Given the description of an element on the screen output the (x, y) to click on. 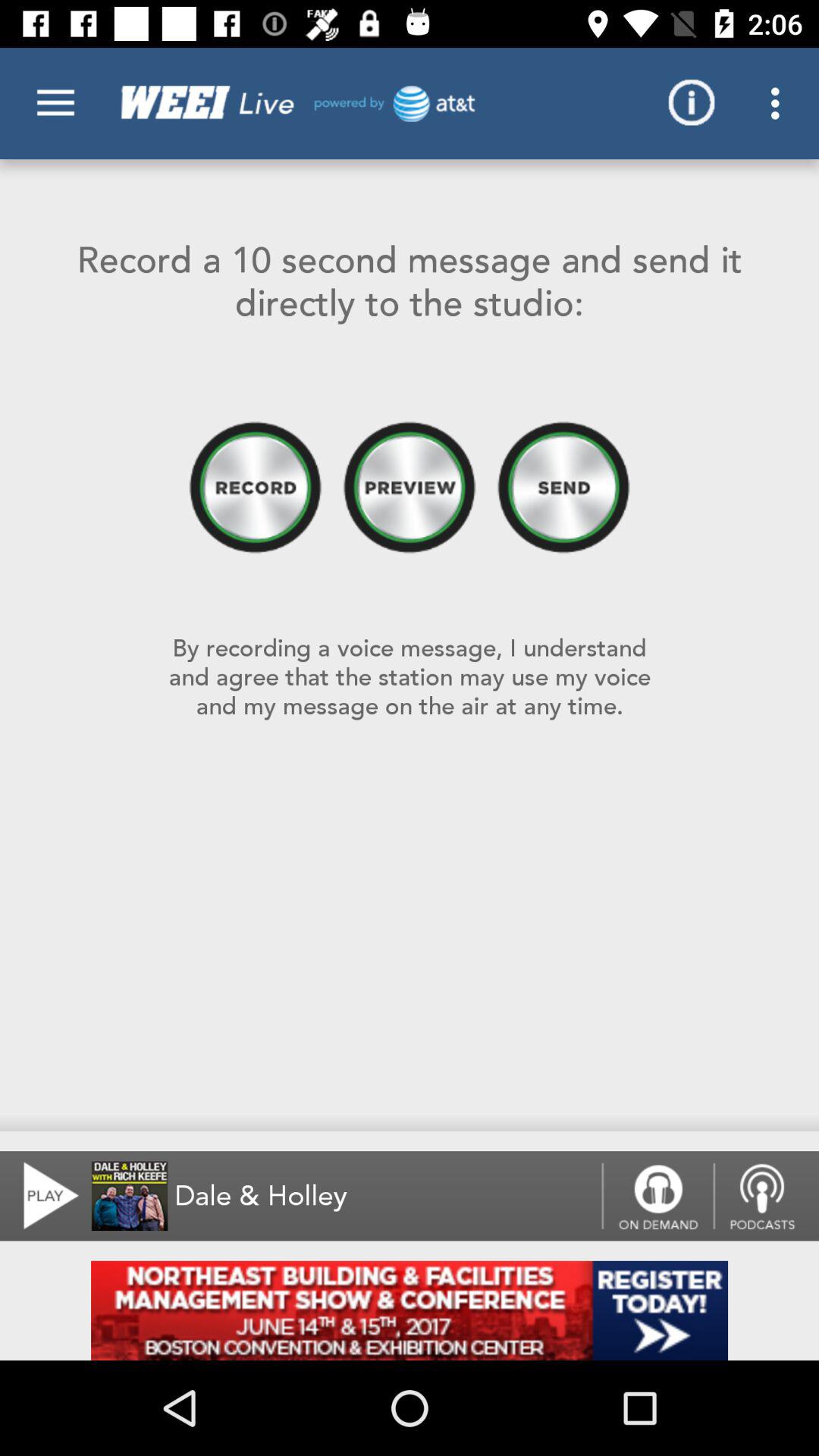
advertisement button (409, 1310)
